Given the description of an element on the screen output the (x, y) to click on. 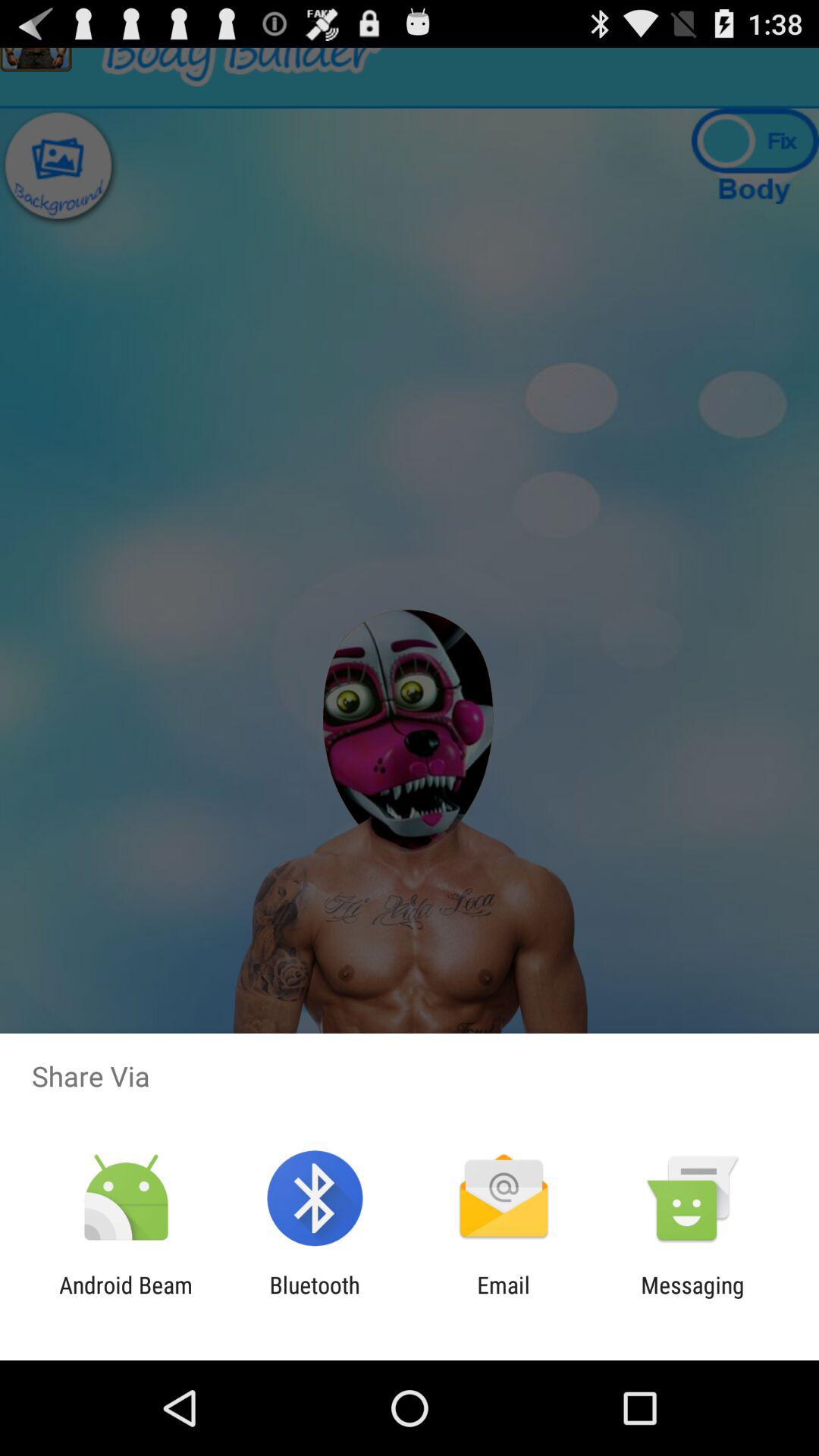
turn off the icon to the left of the email icon (314, 1298)
